Given the description of an element on the screen output the (x, y) to click on. 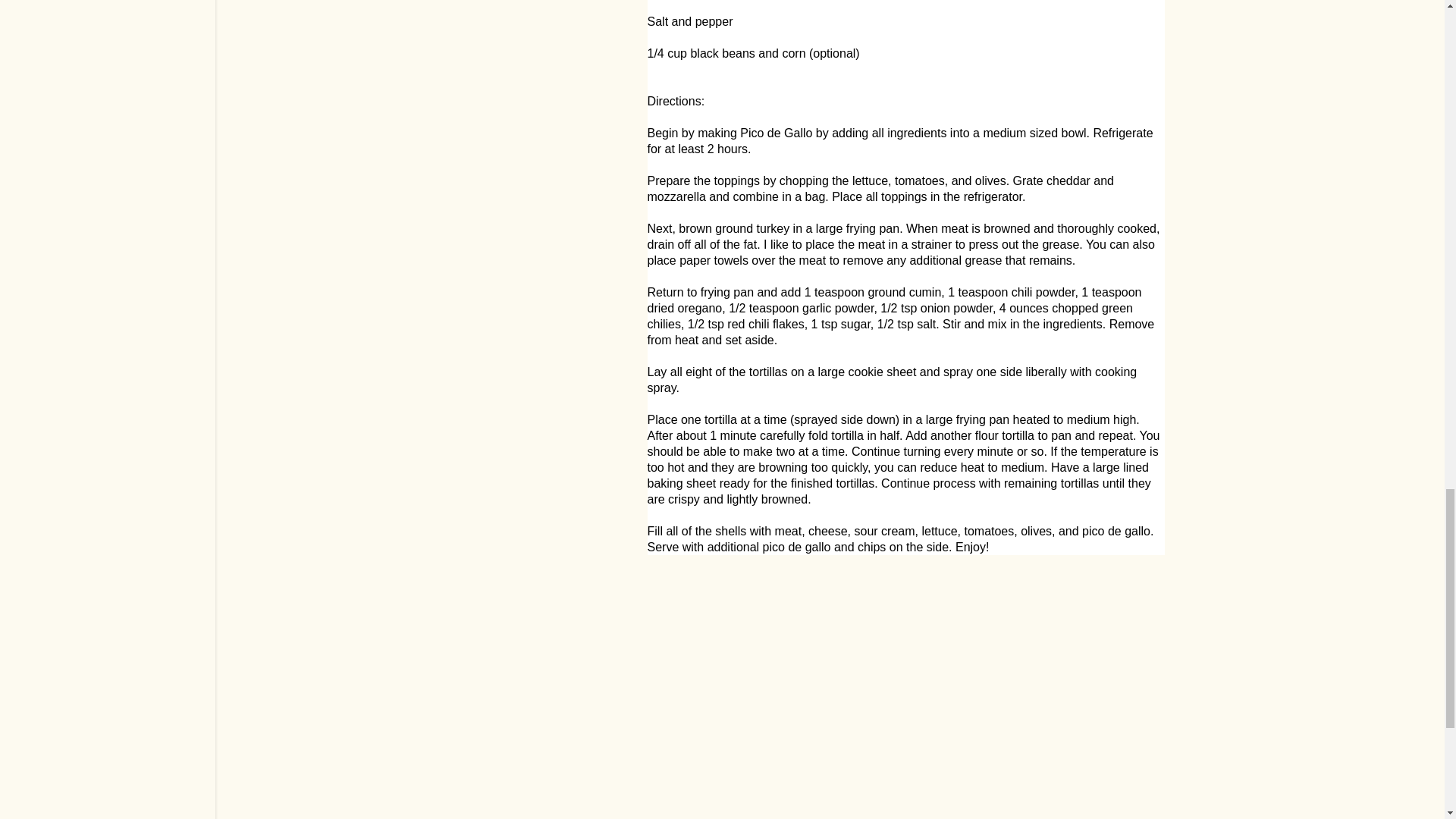
Advertisement (905, 710)
